Given the description of an element on the screen output the (x, y) to click on. 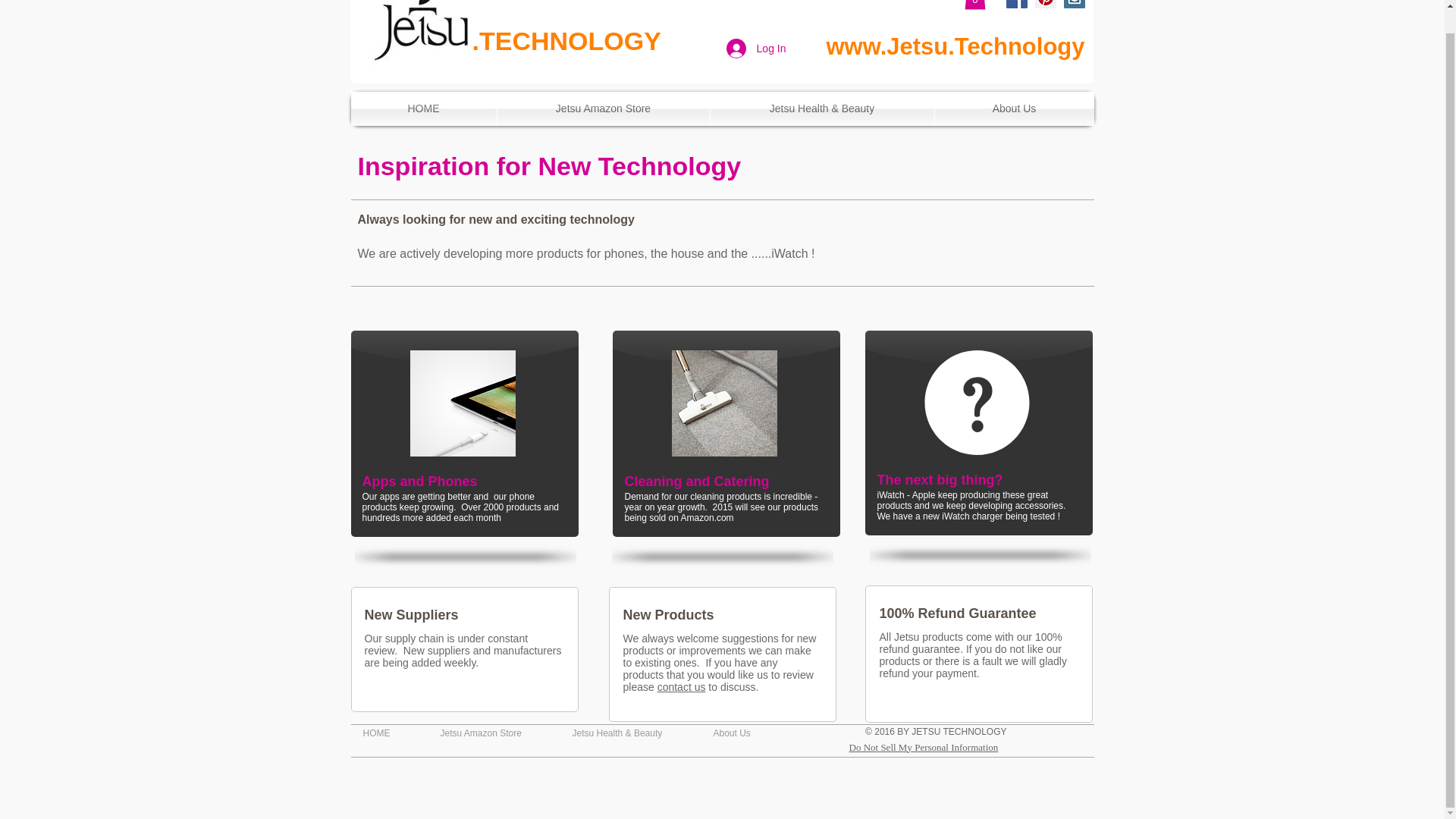
Jetsu.jpg (418, 33)
Do Not Sell My Personal Information (923, 747)
About Us (1013, 108)
Jetsu Amazon Store (494, 732)
iPad and Charger (462, 403)
About Us (745, 732)
Vaccum Cleaner (724, 403)
0 (974, 4)
HOME (390, 732)
Jetsu Amazon Store (603, 108)
